Given the description of an element on the screen output the (x, y) to click on. 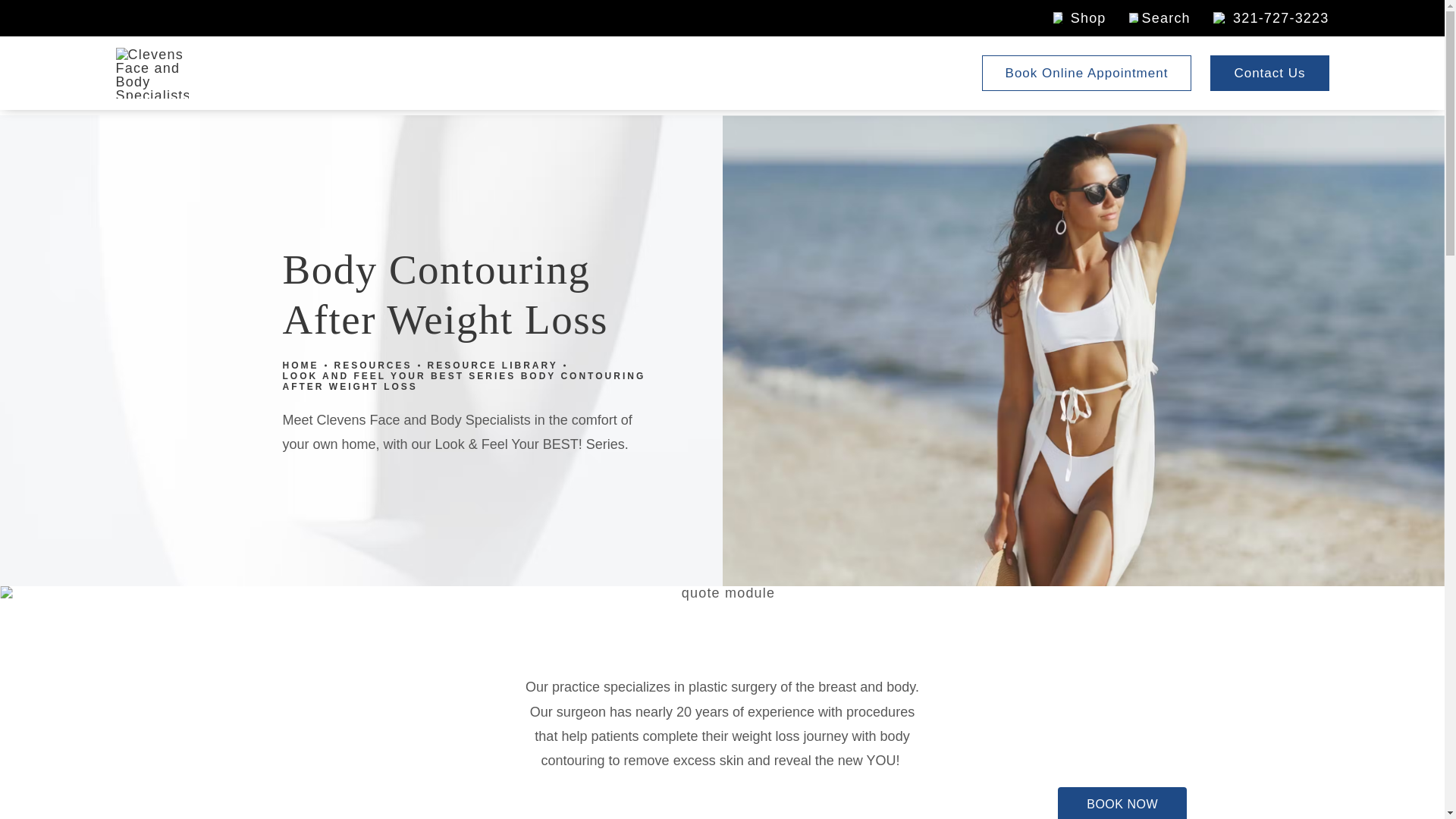
321-727-3223 (1260, 18)
Open search bar (1148, 17)
Shop (1068, 18)
Search (1148, 17)
